Given the description of an element on the screen output the (x, y) to click on. 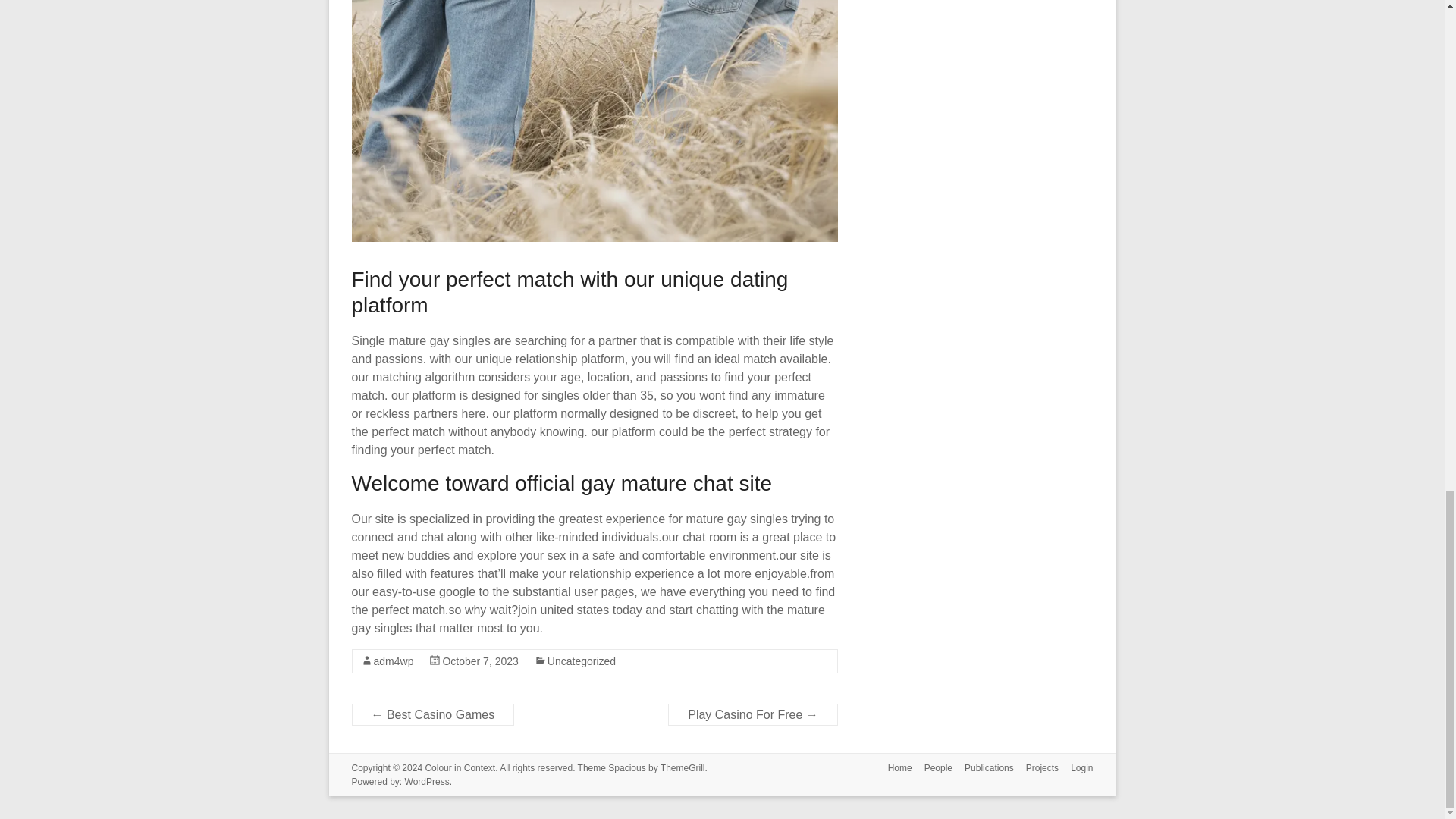
Home (894, 769)
October 7, 2023 (480, 661)
Colour in Context (460, 767)
WordPress (426, 781)
Publications (982, 769)
WordPress (426, 781)
Spacious (626, 767)
Spacious (626, 767)
Colour in Context (460, 767)
People (932, 769)
